Given the description of an element on the screen output the (x, y) to click on. 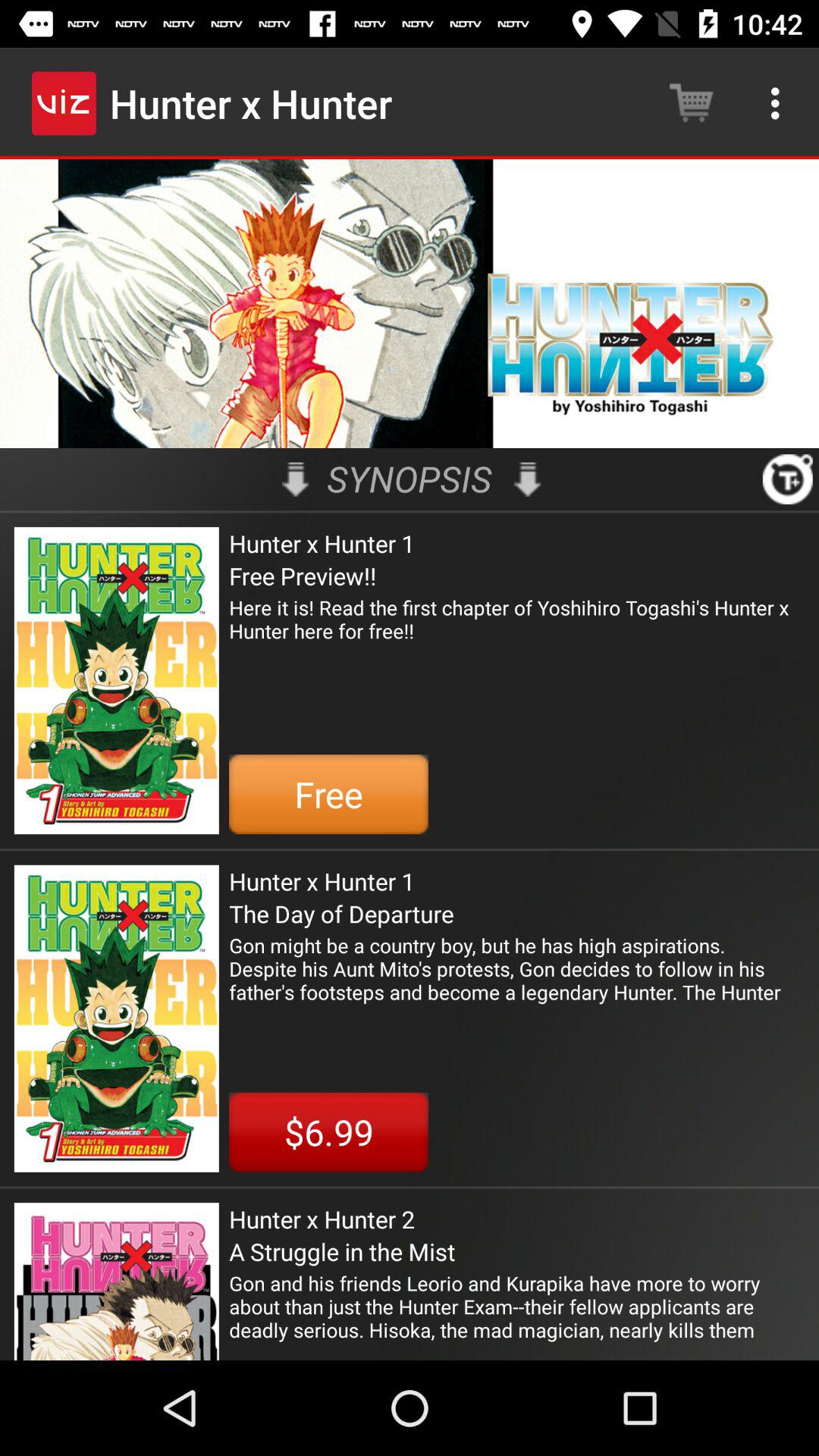
launch icon to the right of the synopsis icon (527, 479)
